Given the description of an element on the screen output the (x, y) to click on. 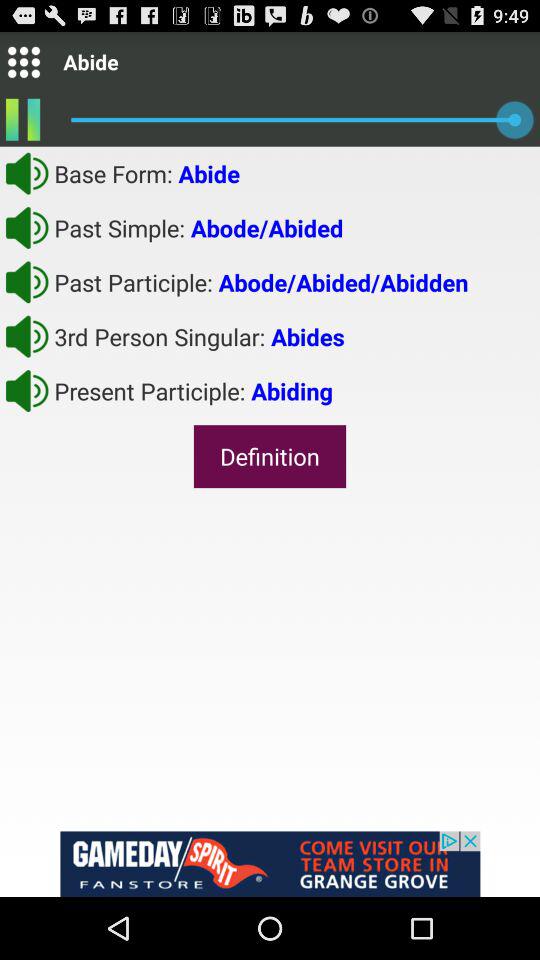
play/hear selection (27, 227)
